Given the description of an element on the screen output the (x, y) to click on. 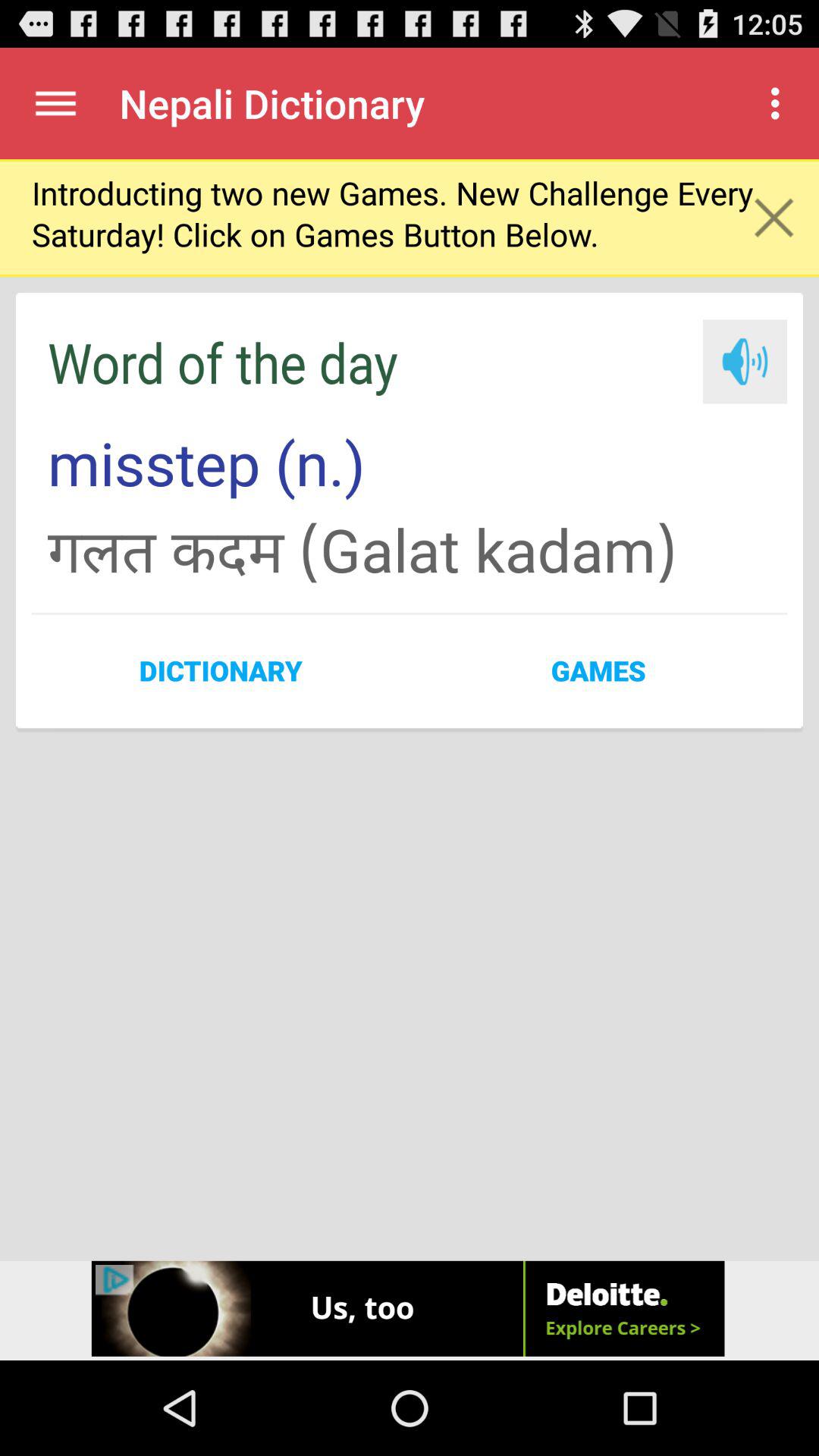
click on the icon which is next to word of the day (744, 362)
